Given the description of an element on the screen output the (x, y) to click on. 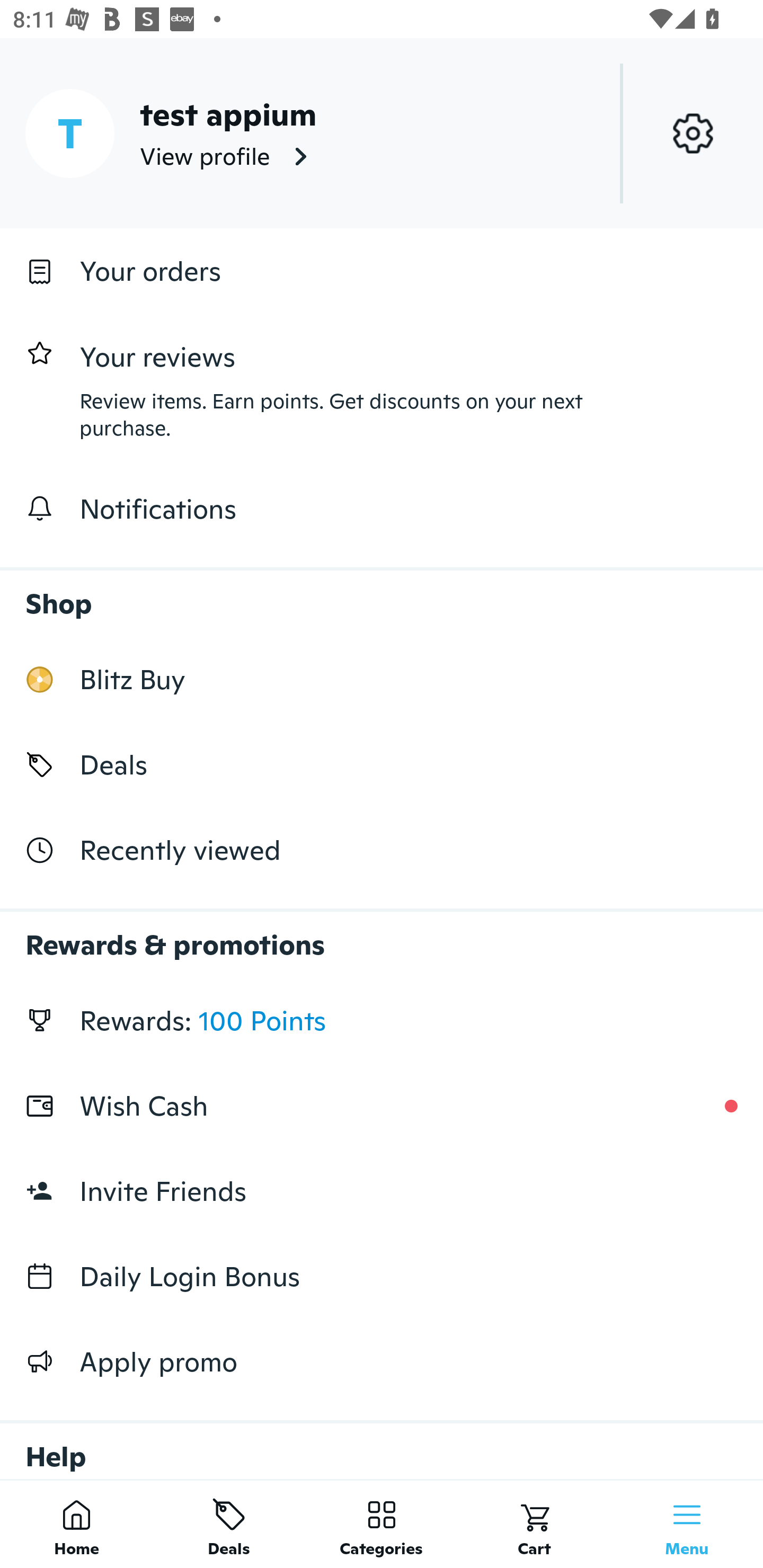
T test appium View profile (381, 132)
Your orders (381, 270)
Notifications (381, 508)
Shop (381, 593)
Blitz Buy (381, 679)
Deals (381, 764)
Recently viewed (381, 850)
Rewards & promotions (381, 935)
Rewards: 100 Points (381, 1020)
Wish Cash (381, 1106)
Invite Friends (381, 1190)
Daily Login Bonus (381, 1277)
Apply promo (381, 1361)
Help (381, 1441)
Home (76, 1523)
Deals (228, 1523)
Categories (381, 1523)
Cart (533, 1523)
Menu (686, 1523)
